Given the description of an element on the screen output the (x, y) to click on. 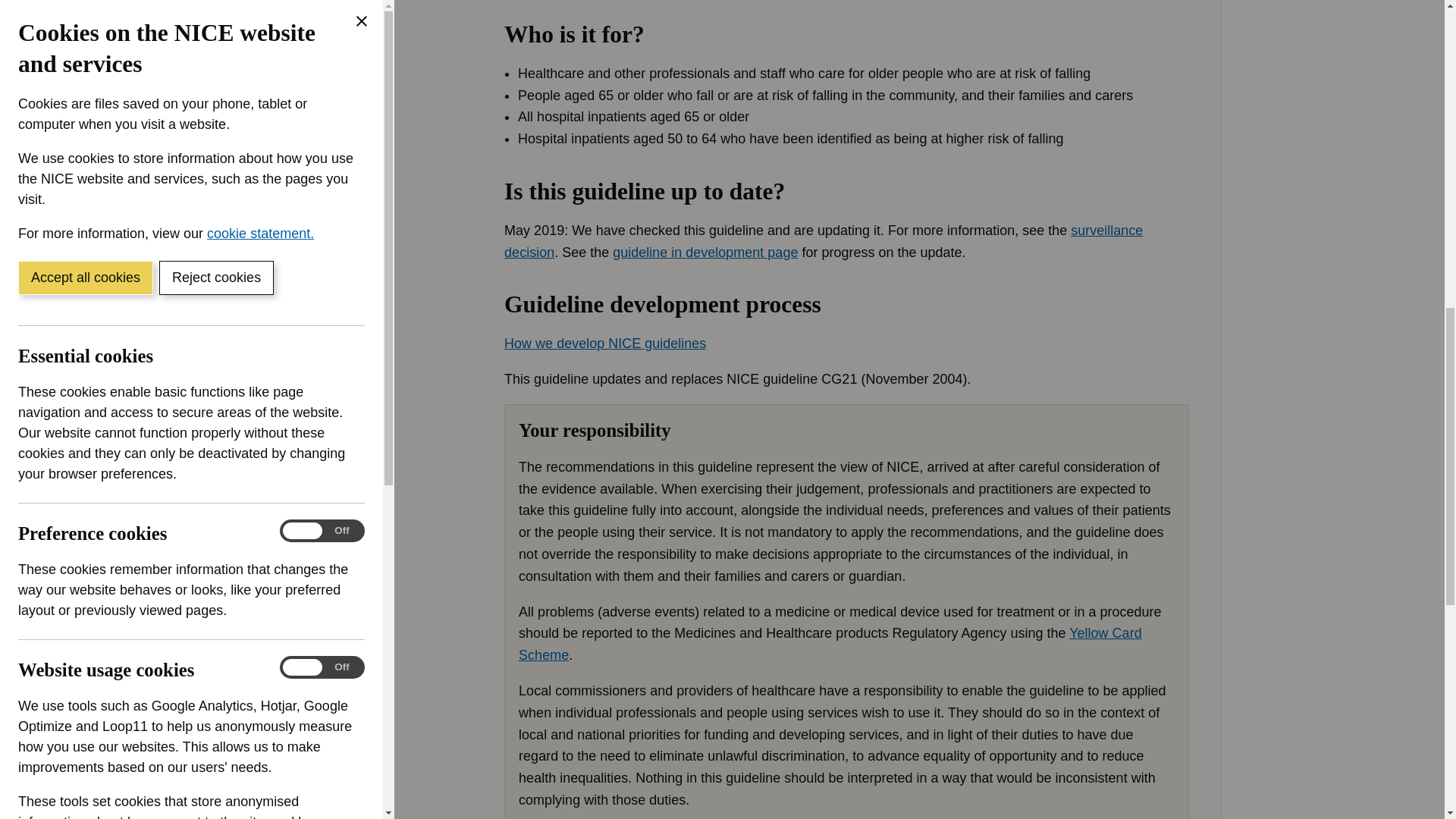
Show vendors within this category (130, 427)
Show vendors within this category (130, 63)
